Given the description of an element on the screen output the (x, y) to click on. 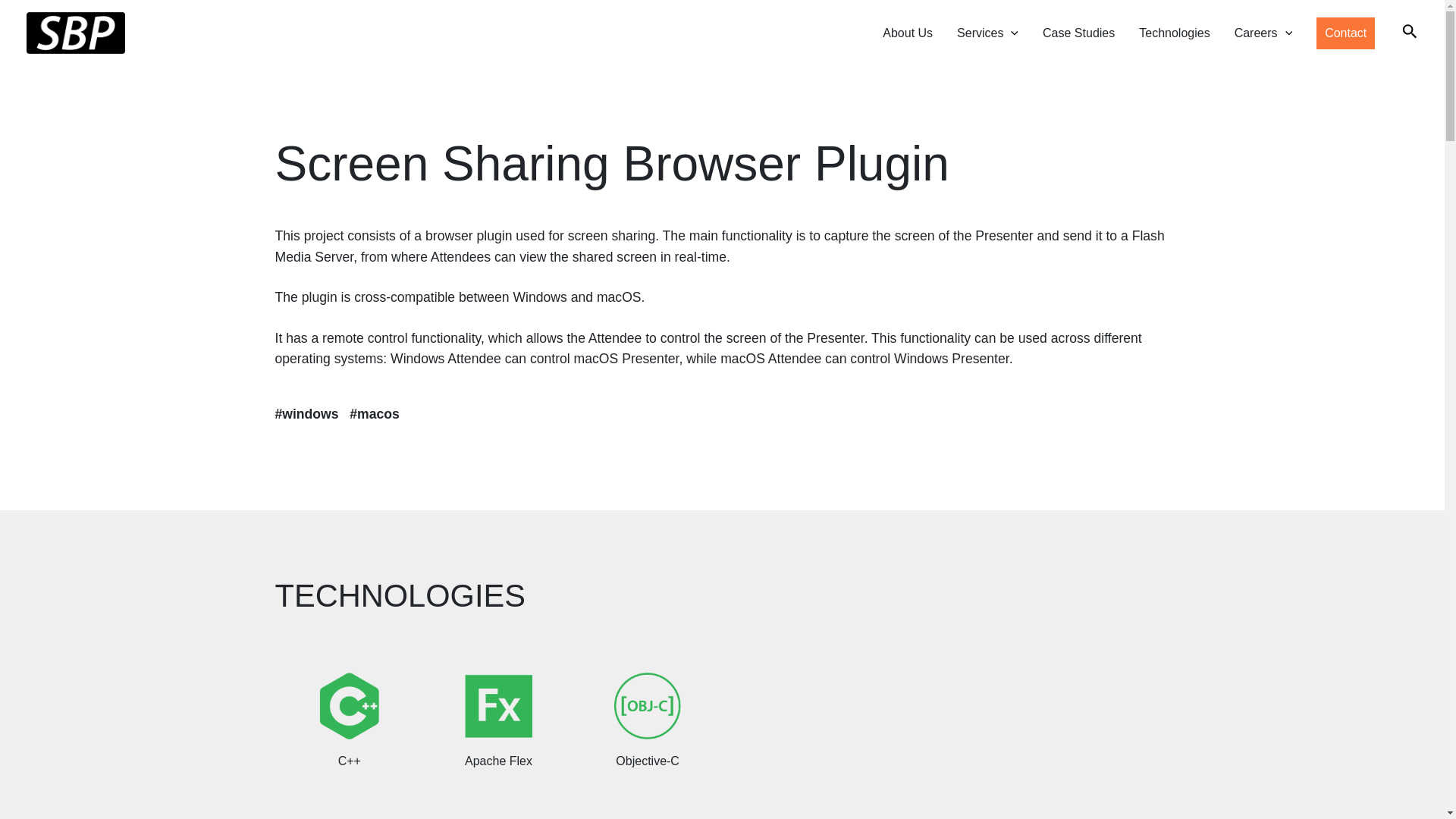
Case Studies (1078, 33)
About Us (907, 33)
Services (987, 33)
Technologies (1173, 33)
Contact (1345, 33)
Careers (1263, 33)
